Given the description of an element on the screen output the (x, y) to click on. 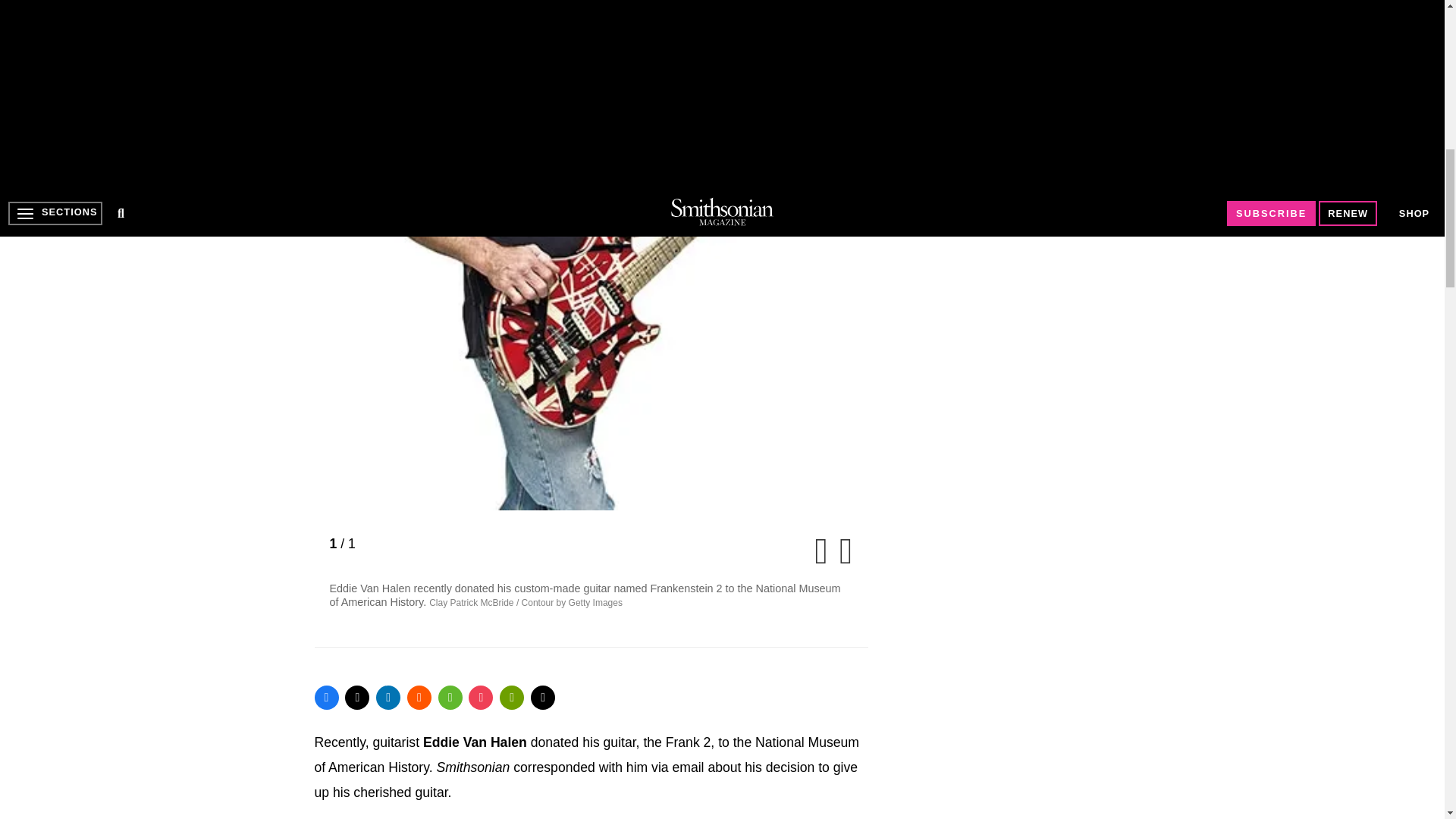
Previous (823, 558)
LinkedIn (387, 697)
Pocket (480, 697)
Print (511, 697)
Email (542, 697)
WhatsApp (450, 697)
Reddit (418, 697)
Twitter (357, 697)
Next (842, 558)
Facebook (325, 697)
